Given the description of an element on the screen output the (x, y) to click on. 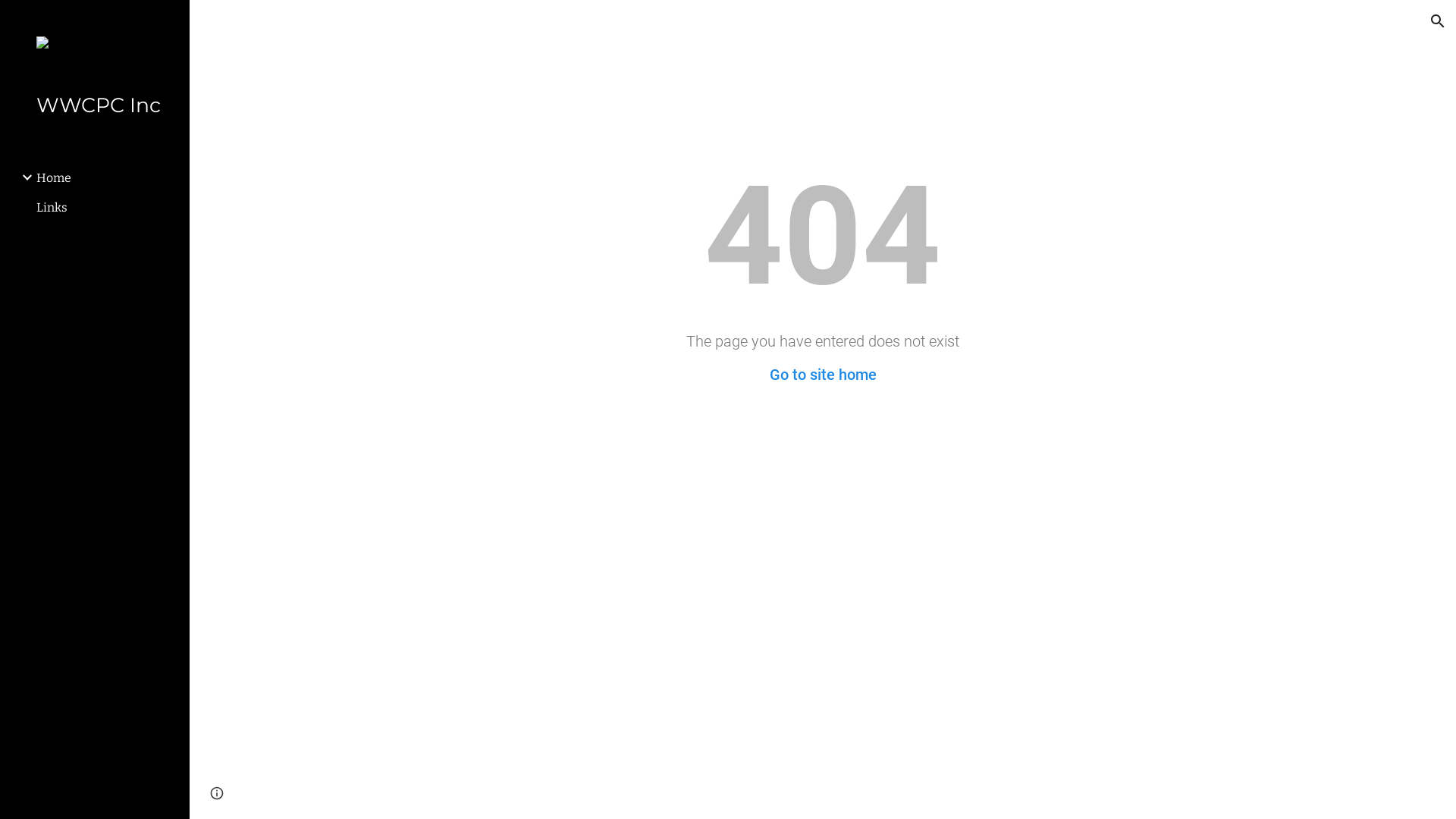
Links Element type: text (106, 207)
Go to site home Element type: text (821, 374)
Expand/Collapse Element type: hover (22, 177)
WWCPC Inc Element type: text (100, 105)
Home Element type: text (106, 177)
